Given the description of an element on the screen output the (x, y) to click on. 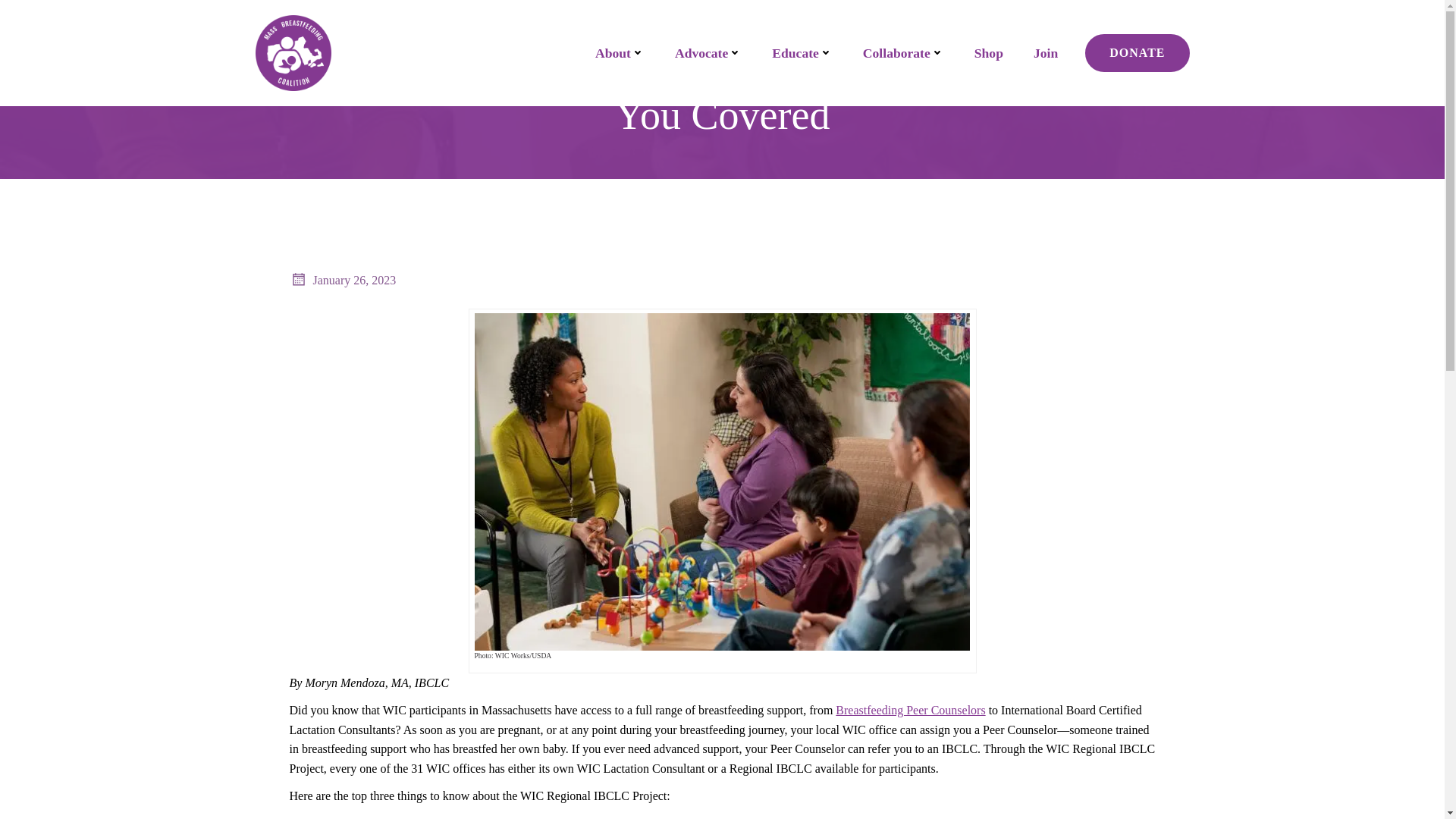
Shop (988, 53)
About (620, 53)
Educate (801, 53)
Join (1045, 53)
Advocate (708, 53)
Collaborate (903, 53)
